Given the description of an element on the screen output the (x, y) to click on. 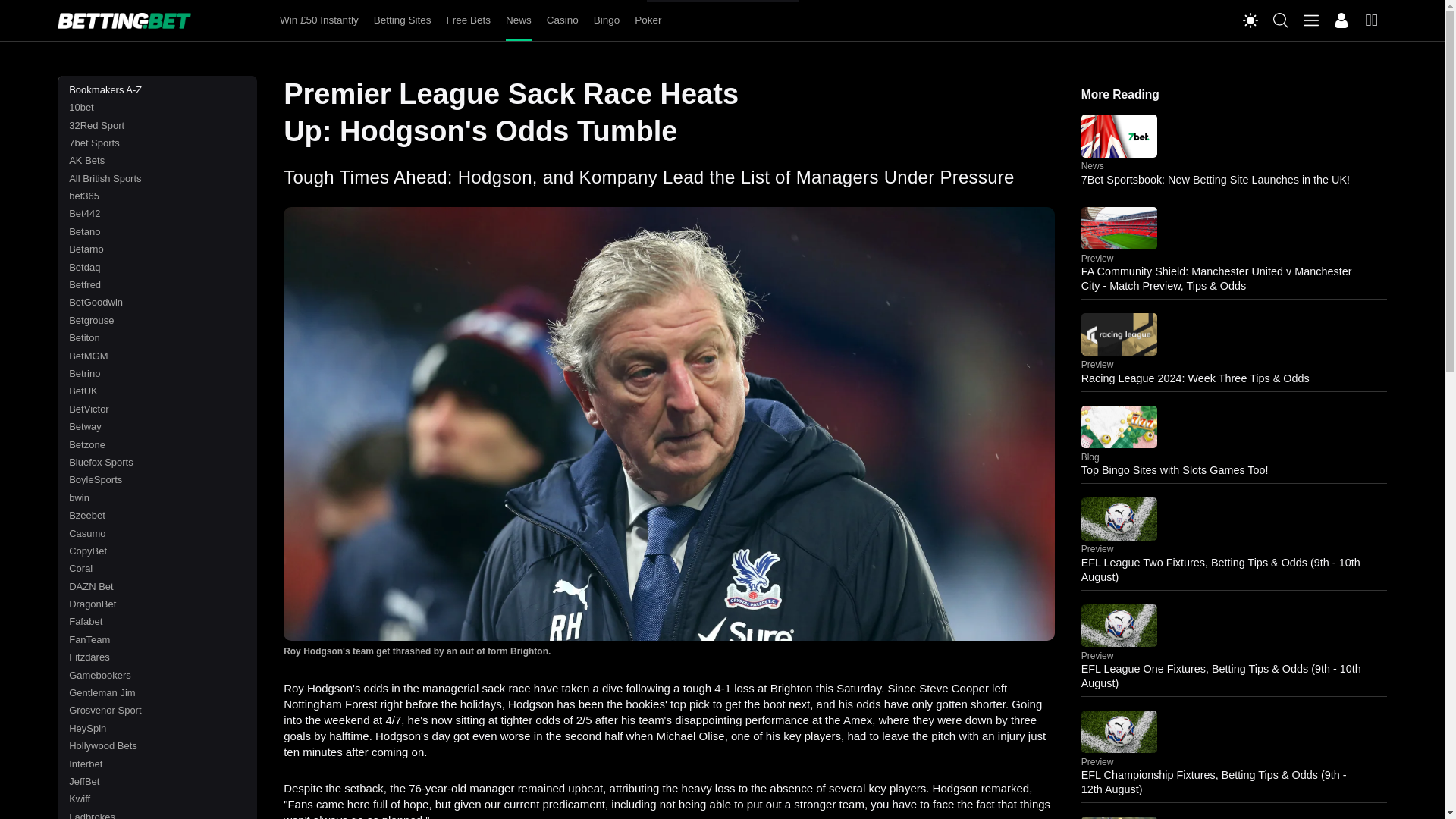
Betting Sites (402, 20)
Free Bets (467, 20)
Skip to content (721, 1)
Switch to light mode (1249, 20)
